Given the description of an element on the screen output the (x, y) to click on. 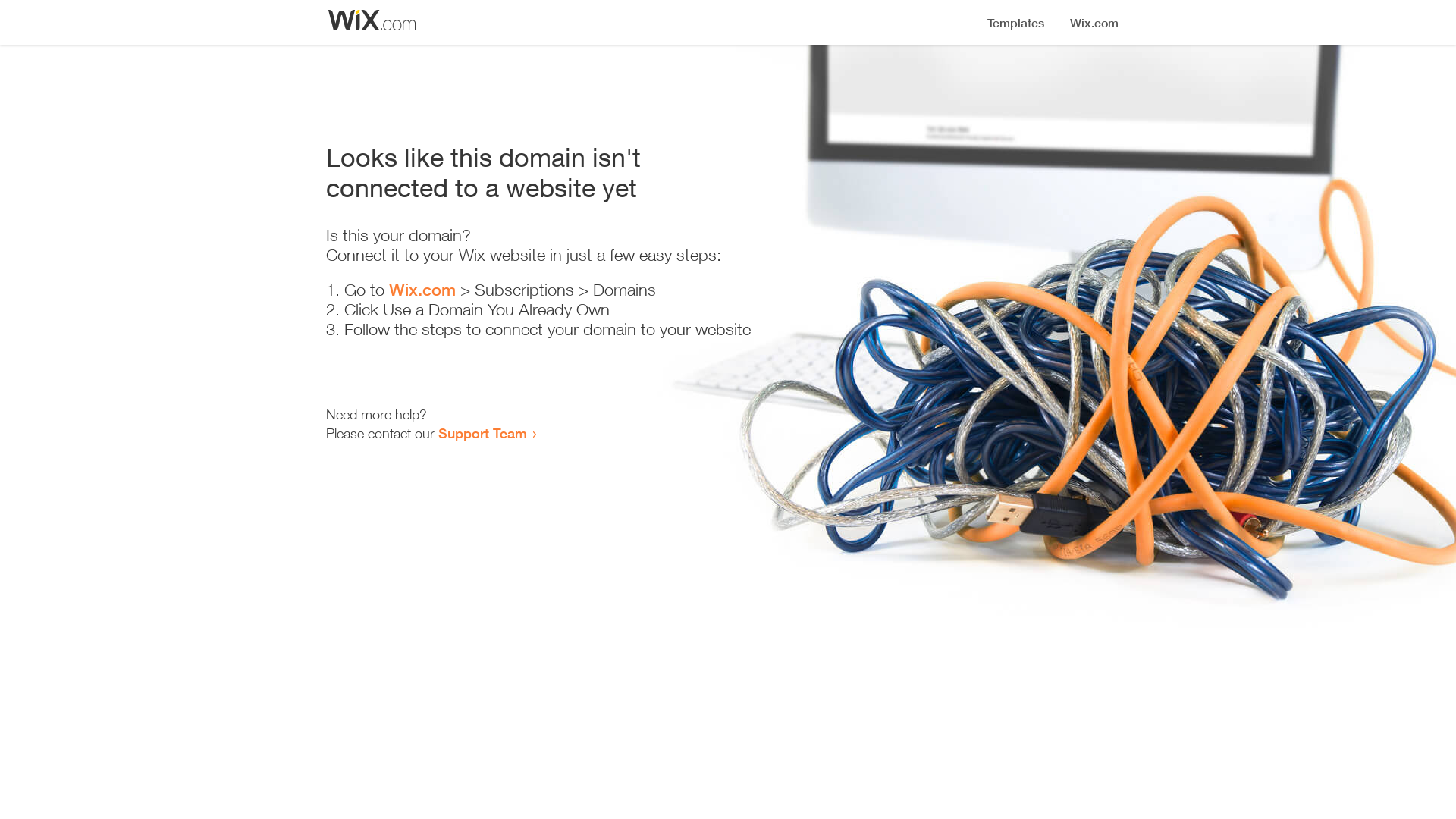
Support Team Element type: text (482, 432)
Wix.com Element type: text (422, 289)
